Given the description of an element on the screen output the (x, y) to click on. 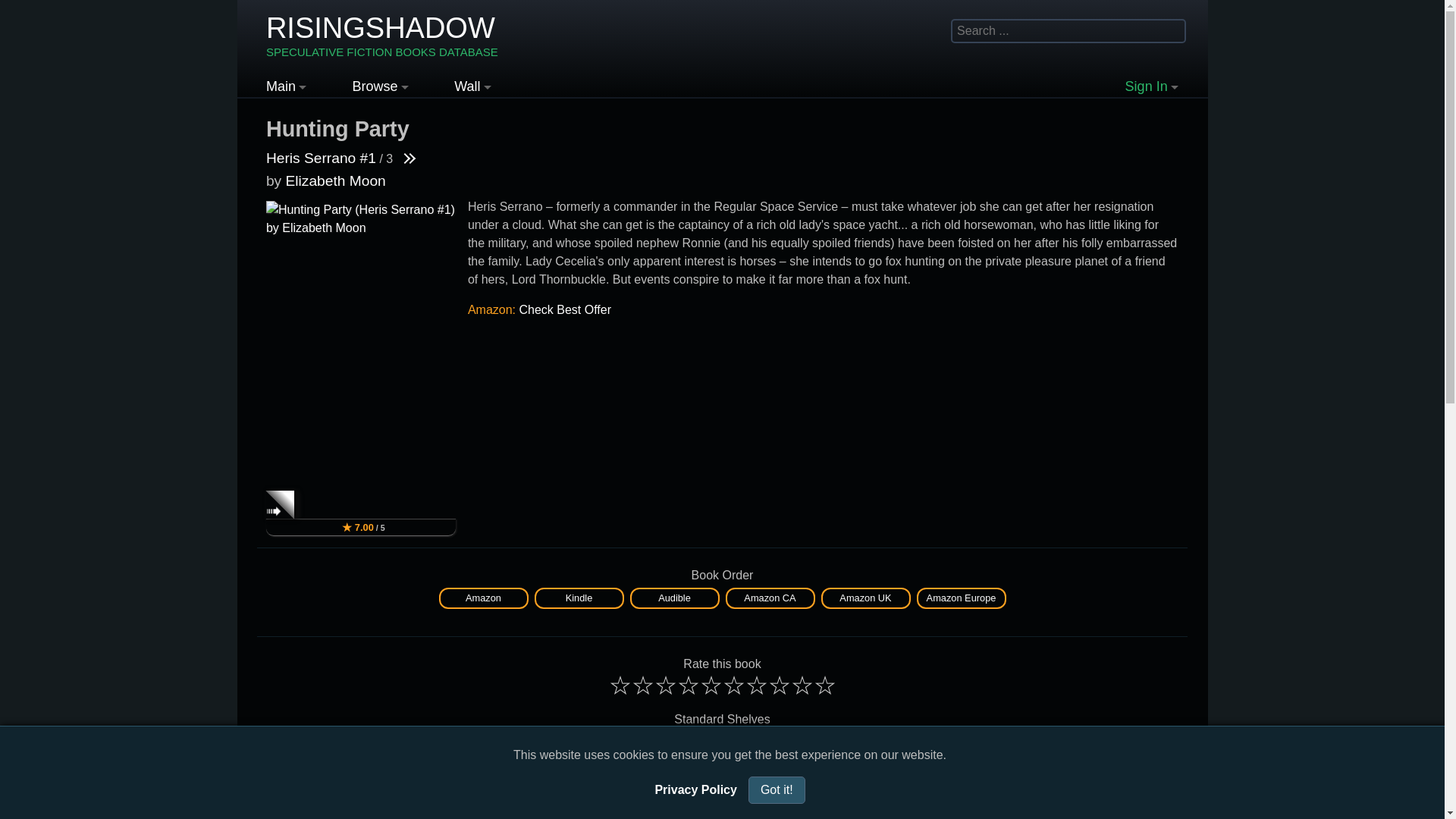
Want to Buy (766, 742)
Read (498, 742)
Kindle (578, 596)
Check Best Offer (564, 309)
Amazon (483, 596)
Reading (587, 742)
Amazon CA (769, 596)
Want to Read (676, 742)
Read (381, 36)
Owned (498, 742)
Want to Buy (855, 742)
Risingshadow (766, 742)
Owned (381, 36)
Want to Read (855, 742)
